Given the description of an element on the screen output the (x, y) to click on. 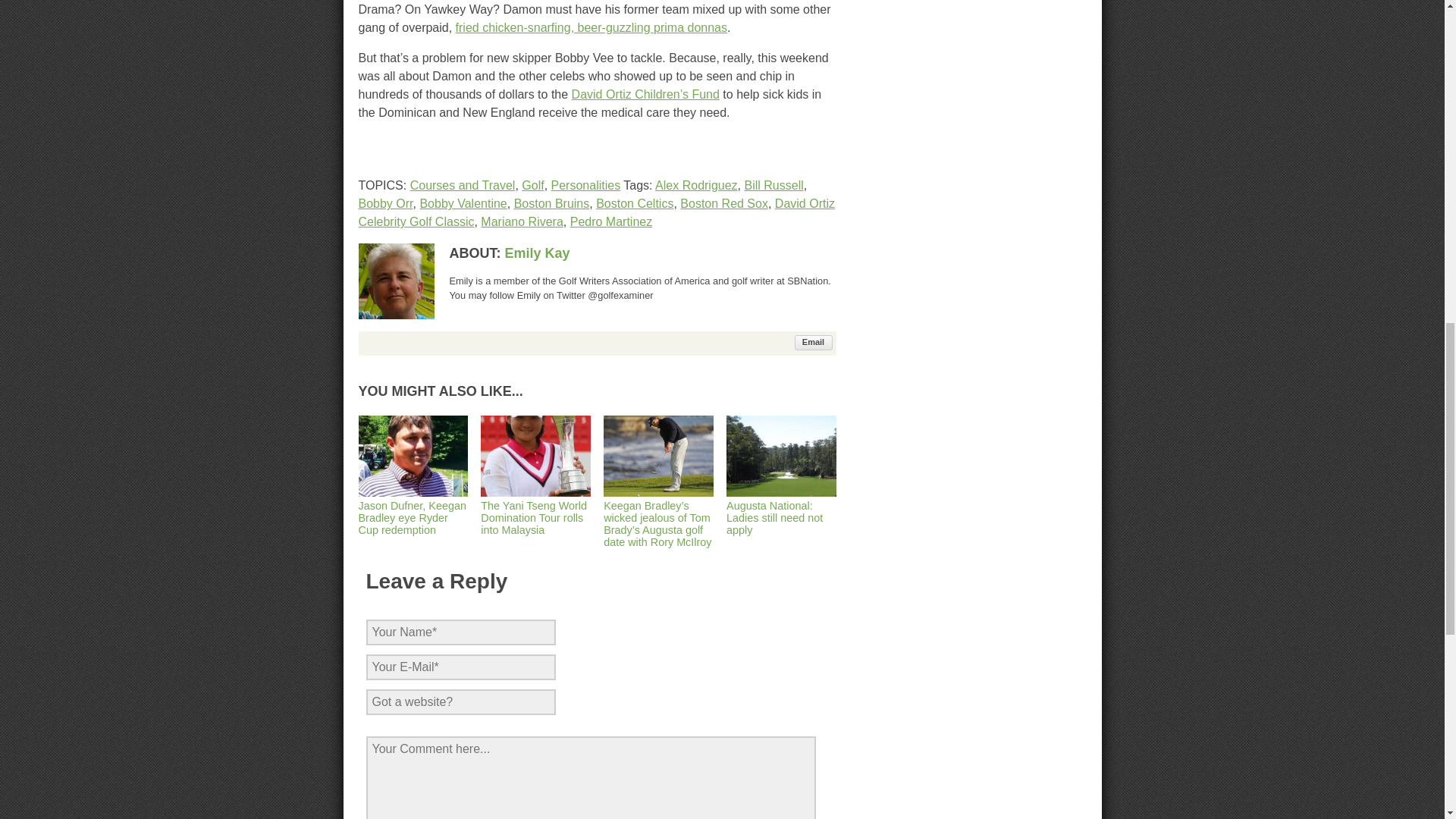
Boston Celtics (633, 203)
Courses and Travel (462, 185)
Augusta National: Ladies still need not apply (780, 511)
Mariano Rivera (521, 221)
Bobby Orr (385, 203)
Bill Russell (773, 185)
Boston Bruins (551, 203)
fried chicken-snarfing, beer-guzzling prima donnas (590, 27)
David Ortiz Celebrity Golf Classic (596, 212)
Bobby Valentine (462, 203)
